Given the description of an element on the screen output the (x, y) to click on. 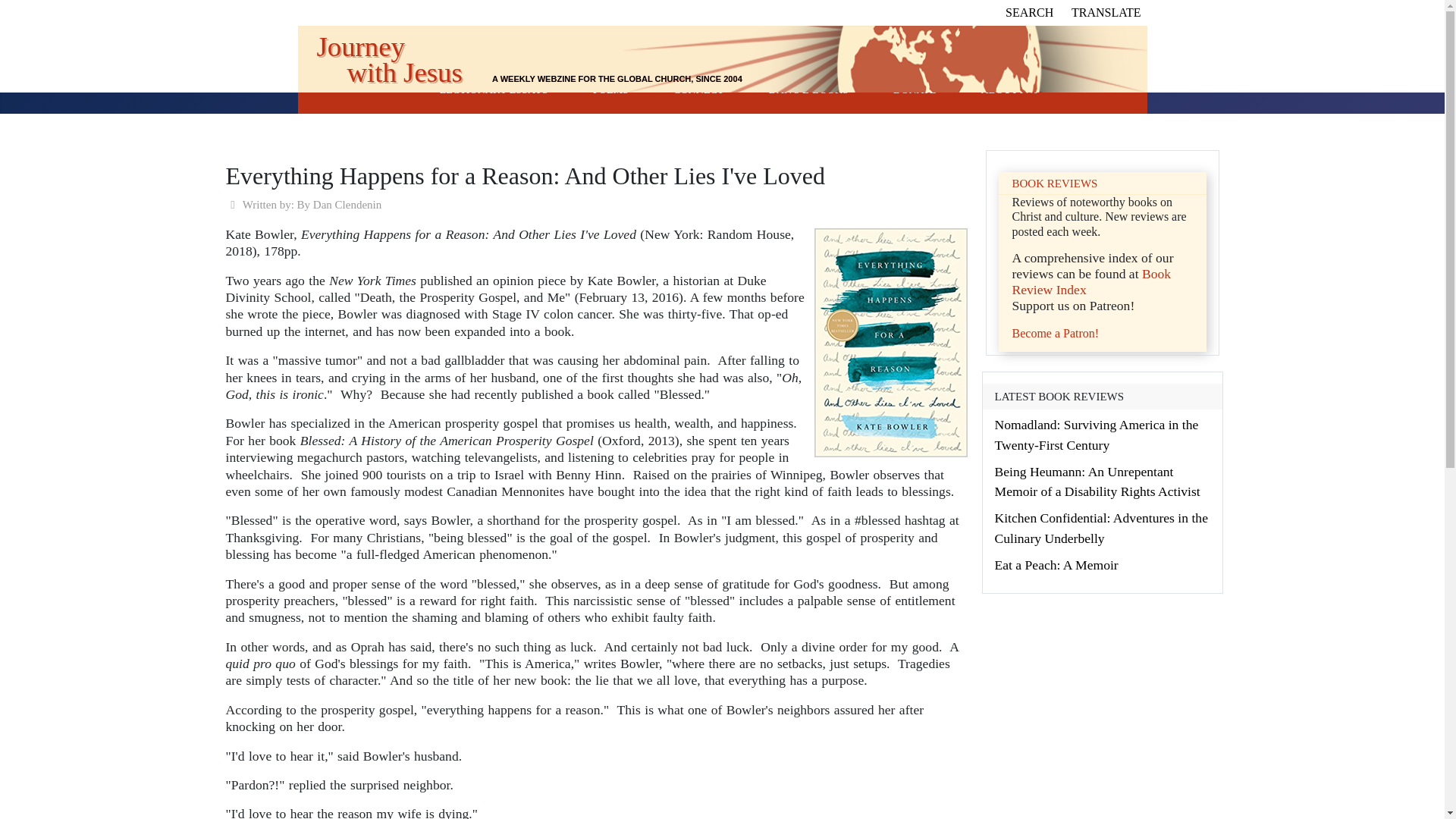
CONNECT (697, 89)
Kitchen Confidential: Adventures in the Culinary Underbelly (1101, 527)
TRANSLATE (1106, 11)
Book Review Index (1090, 281)
HOME (388, 89)
Become a Patron! (1055, 332)
ABOUT JWJ (1010, 89)
LECTIONARY ESSAYS (493, 89)
Nomadland: Surviving America in the Twenty-First Century (1096, 434)
POEMS (610, 89)
SEARCH (1029, 11)
DONATE (914, 89)
Eat a Peach: A Memoir (1056, 564)
DAN'S E-BOOKS (808, 89)
